Given the description of an element on the screen output the (x, y) to click on. 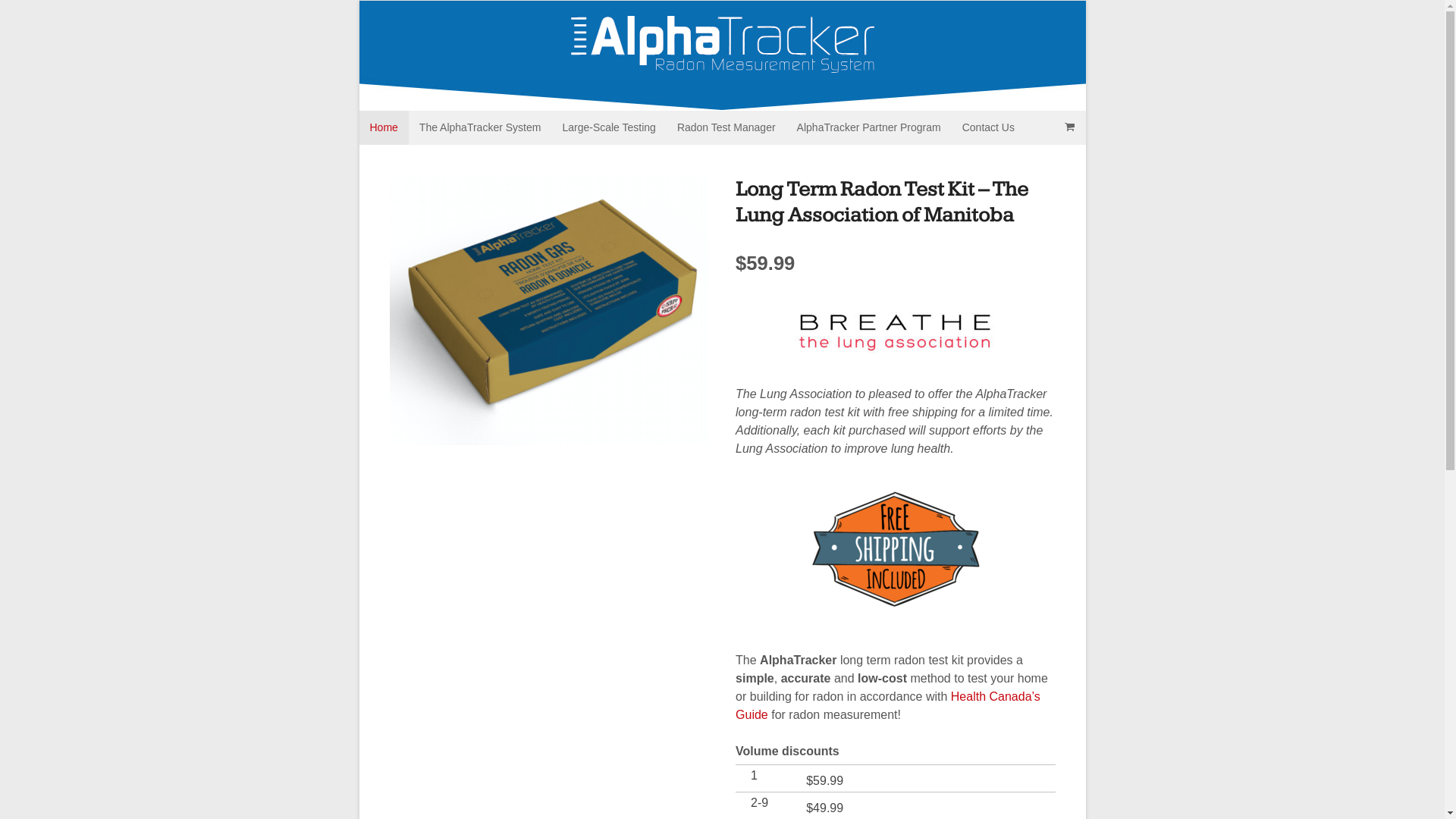
alphatracker-radon-test-kit Element type: hover (549, 310)
View your shopping cart Element type: hover (1069, 126)
AlphaTracker Partner Program Element type: text (868, 127)
Large-Scale Testing Element type: text (608, 127)
Contact Us Element type: text (988, 127)
The AlphaTracker System Element type: text (480, 127)
Radon Test Manager Element type: text (726, 127)
Home Element type: text (383, 127)
